Given the description of an element on the screen output the (x, y) to click on. 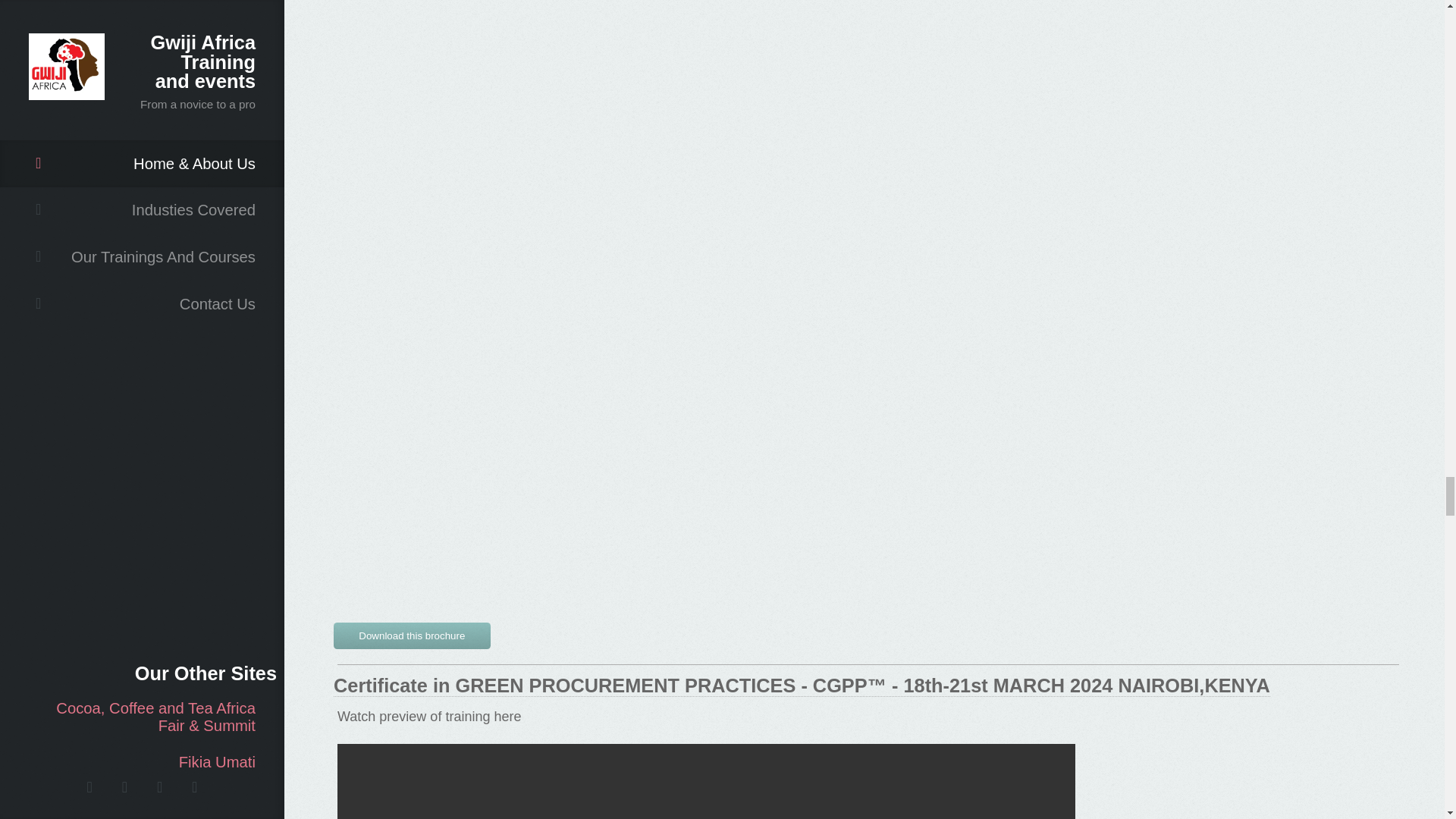
Download this brochure (411, 635)
Download this brochure (411, 632)
